Given the description of an element on the screen output the (x, y) to click on. 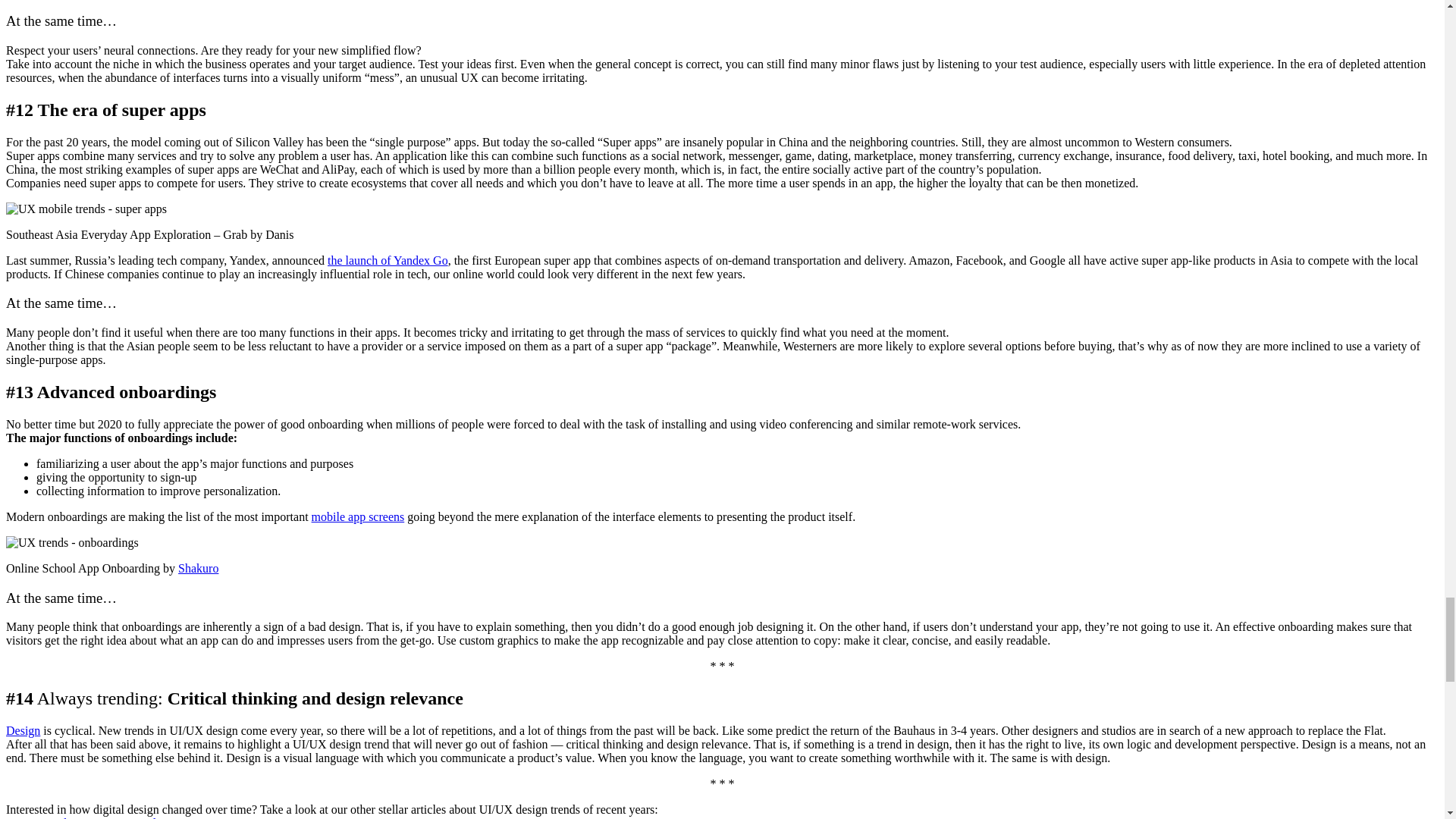
Shakuro (197, 567)
mobile app screens (357, 516)
the launch of Yandex Go (387, 259)
